Given the description of an element on the screen output the (x, y) to click on. 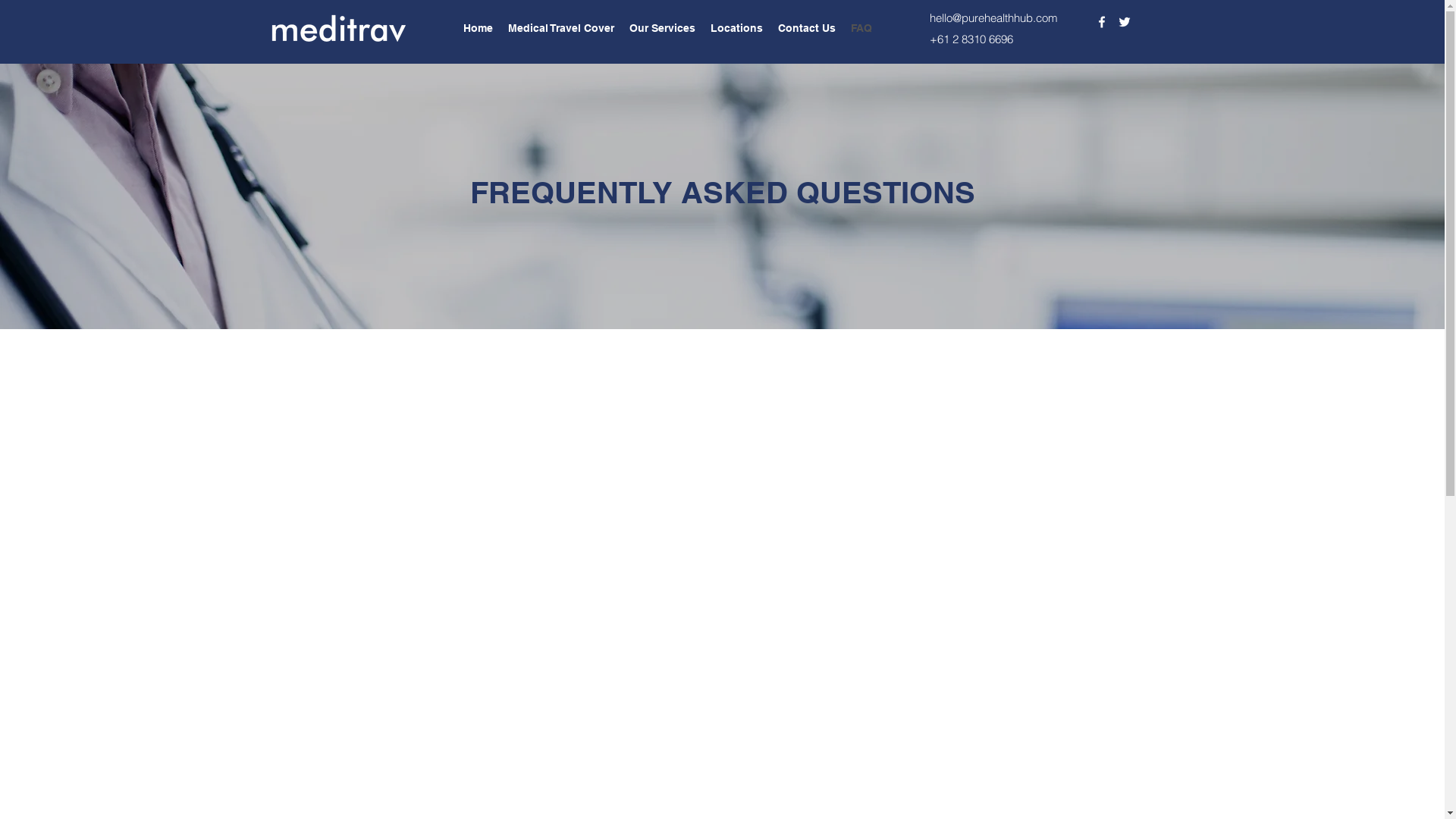
Medical Travel Cover Element type: text (560, 28)
hello@purehealthhub.com Element type: text (993, 17)
Locations Element type: text (735, 28)
Contact Us Element type: text (806, 28)
Home Element type: text (477, 28)
FAQ Element type: text (861, 28)
Our Services Element type: text (661, 28)
